Given the description of an element on the screen output the (x, y) to click on. 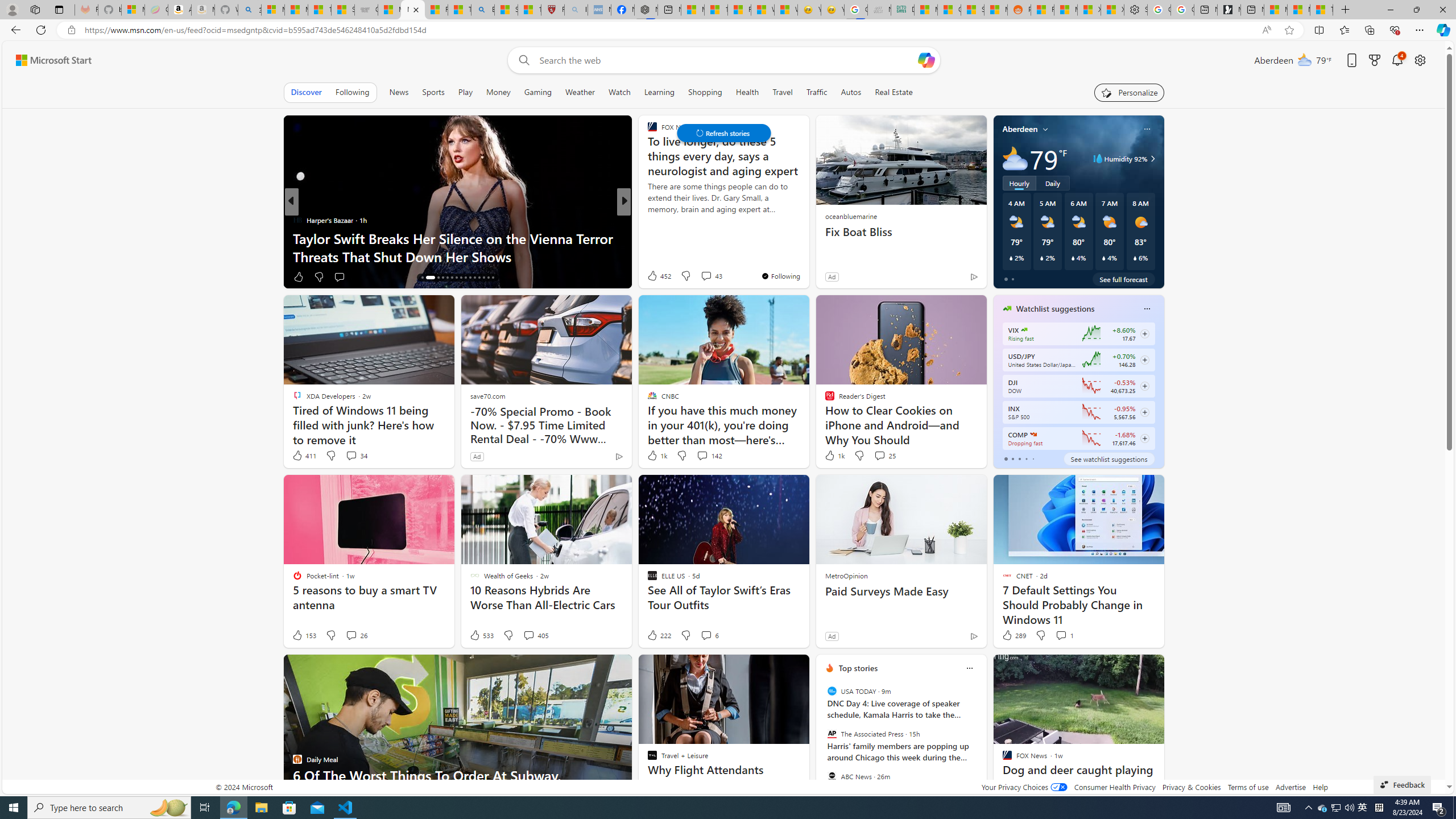
AutomationID: tab-30 (492, 277)
tab-2 (1019, 458)
FOX News (647, 219)
save70.com (487, 395)
AutomationID: tab-27 (478, 277)
Enter your search term (726, 59)
View comments 43 Comment (710, 275)
View comments 58 Comment (704, 276)
AutomationID: tab-17 (426, 277)
